Given the description of an element on the screen output the (x, y) to click on. 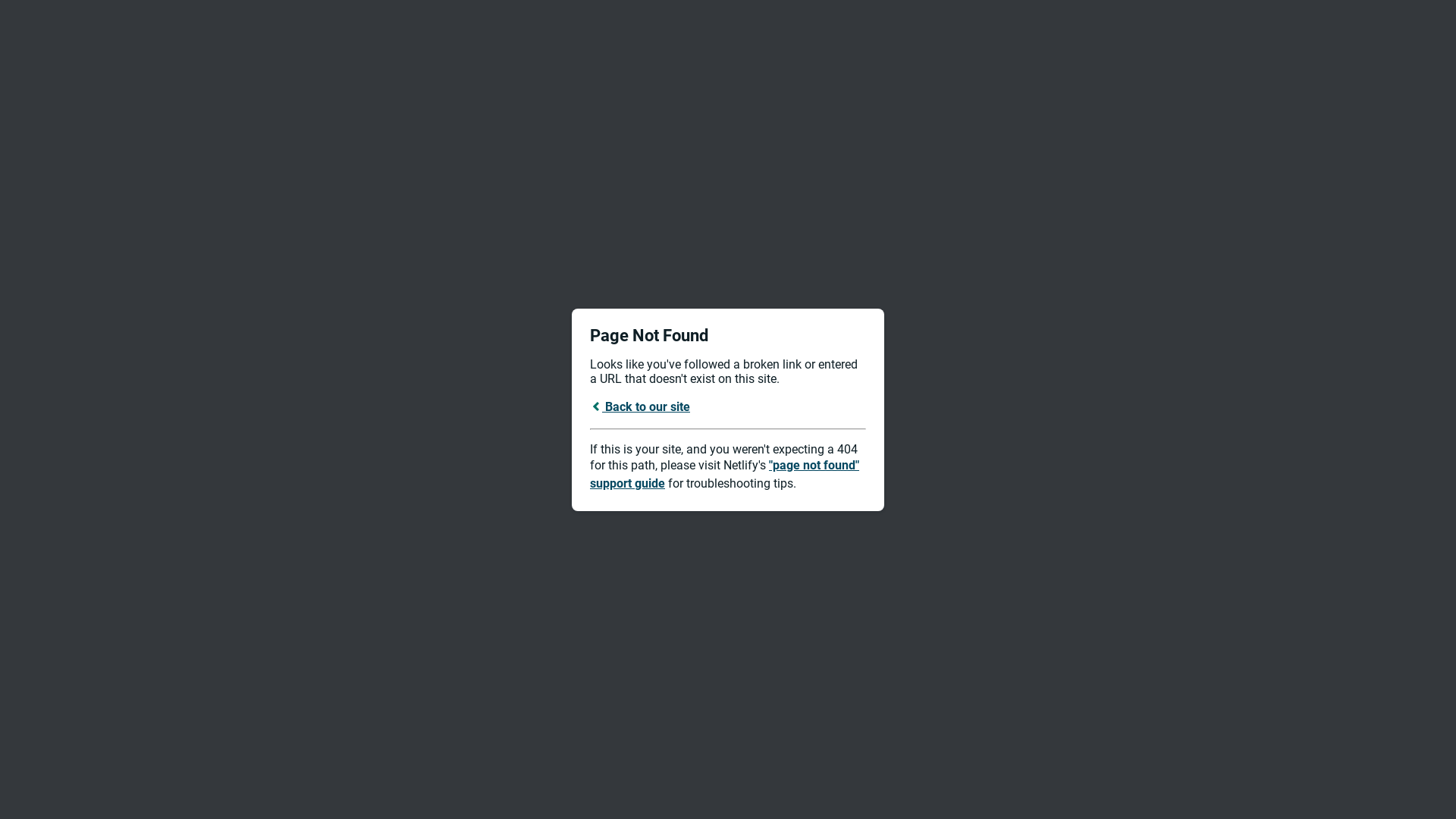
"page not found" support guide Element type: text (724, 474)
Back to our site Element type: text (639, 405)
